Given the description of an element on the screen output the (x, y) to click on. 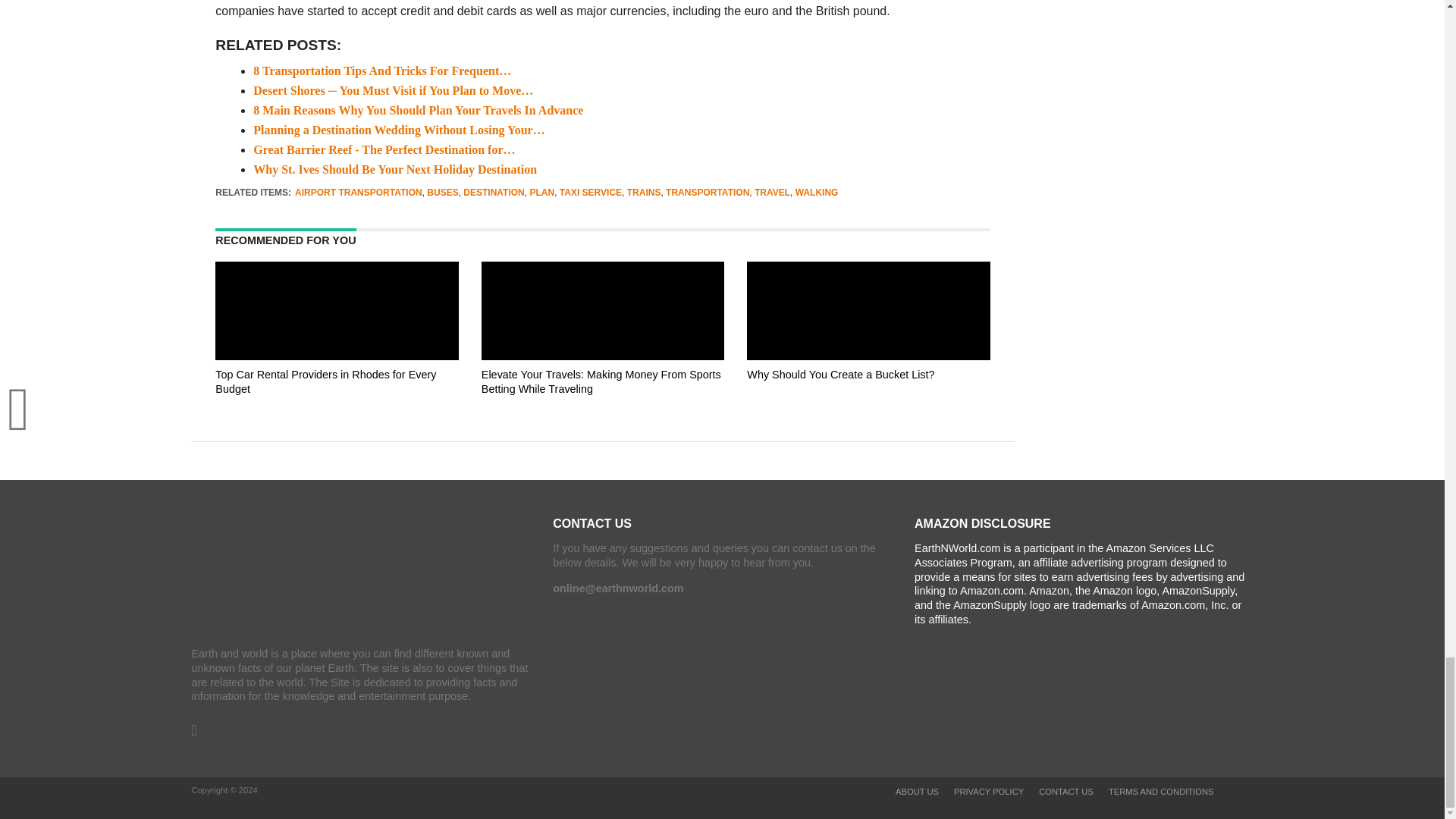
TRANSPORTATION (707, 192)
Why Should You Create a Bucket List? (868, 402)
TRAINS (644, 192)
DESTINATION (493, 192)
AIRPORT TRANSPORTATION (358, 192)
WALKING (816, 192)
TRAVEL (772, 192)
Top Car Rental Providers in Rhodes for Every Budget (336, 402)
PLAN (541, 192)
TAXI SERVICE (590, 192)
Why St. Ives Should Be Your Next Holiday Destination (395, 169)
8 Main Reasons Why You Should Plan Your Travels In Advance (418, 110)
BUSES (442, 192)
